Given the description of an element on the screen output the (x, y) to click on. 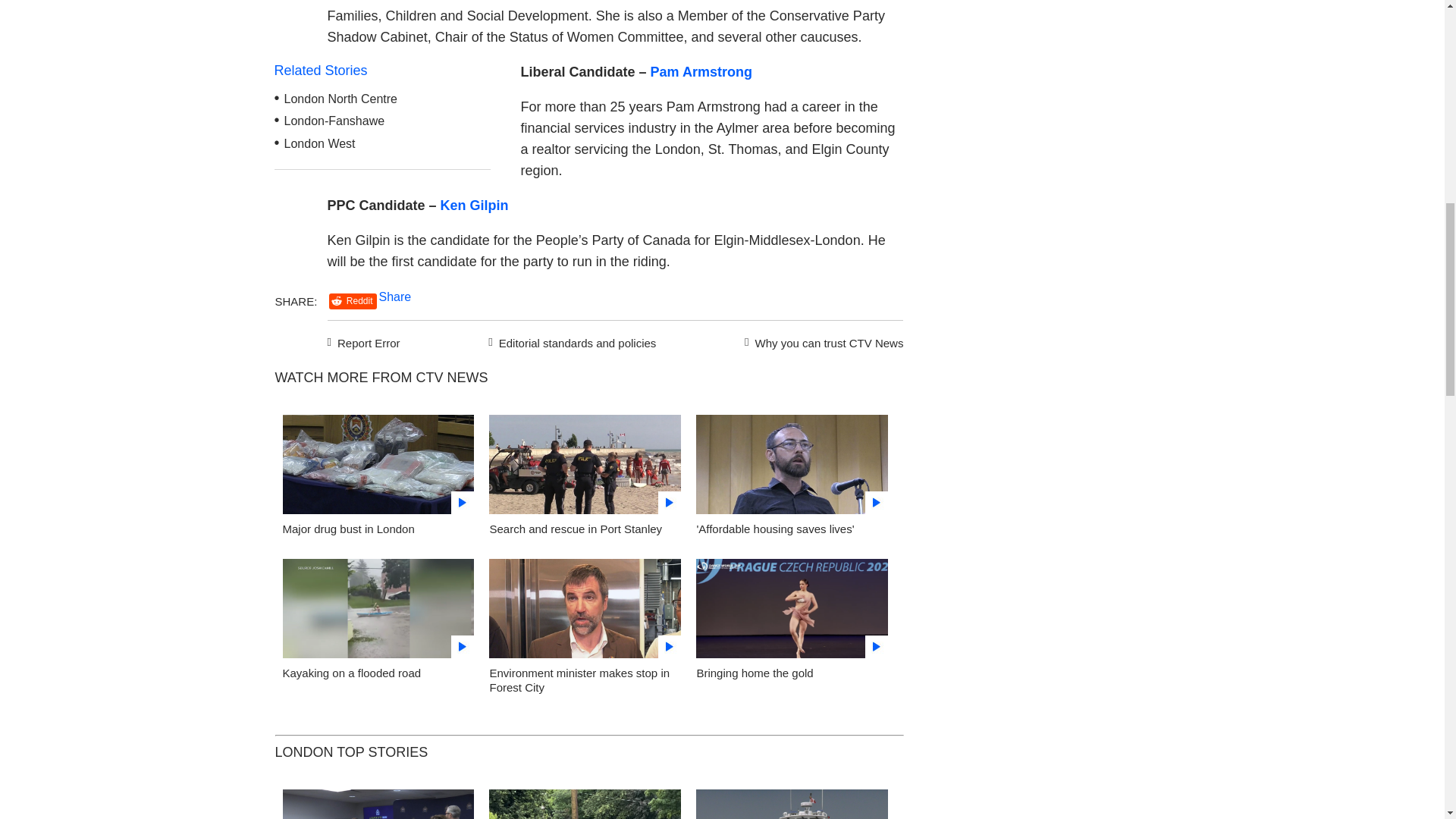
Report Error (363, 341)
London-Fanshawe (334, 120)
LONDON POLICE SEIZURE (378, 804)
false (791, 464)
Share (395, 296)
Editorial standards and policies (569, 341)
london - flooding - july 2024 (585, 804)
Major drug bust in London (378, 468)
Alyssa Albers  (791, 612)
Search and rescue in Port Stanley (585, 468)
Chesley Ave and Hamilton Rd flooding (378, 612)
Environment minister makes stop in Forest City (585, 612)
OPP BOAT SEARCH RESCUE (791, 804)
false (585, 608)
'Affordable housing saves lives' (774, 528)
